Given the description of an element on the screen output the (x, y) to click on. 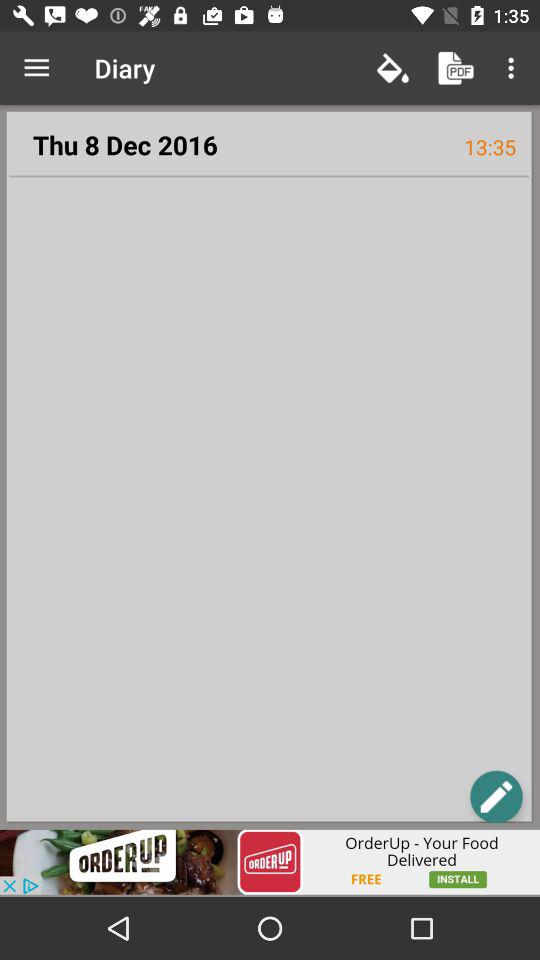
select advertisement (270, 861)
